Given the description of an element on the screen output the (x, y) to click on. 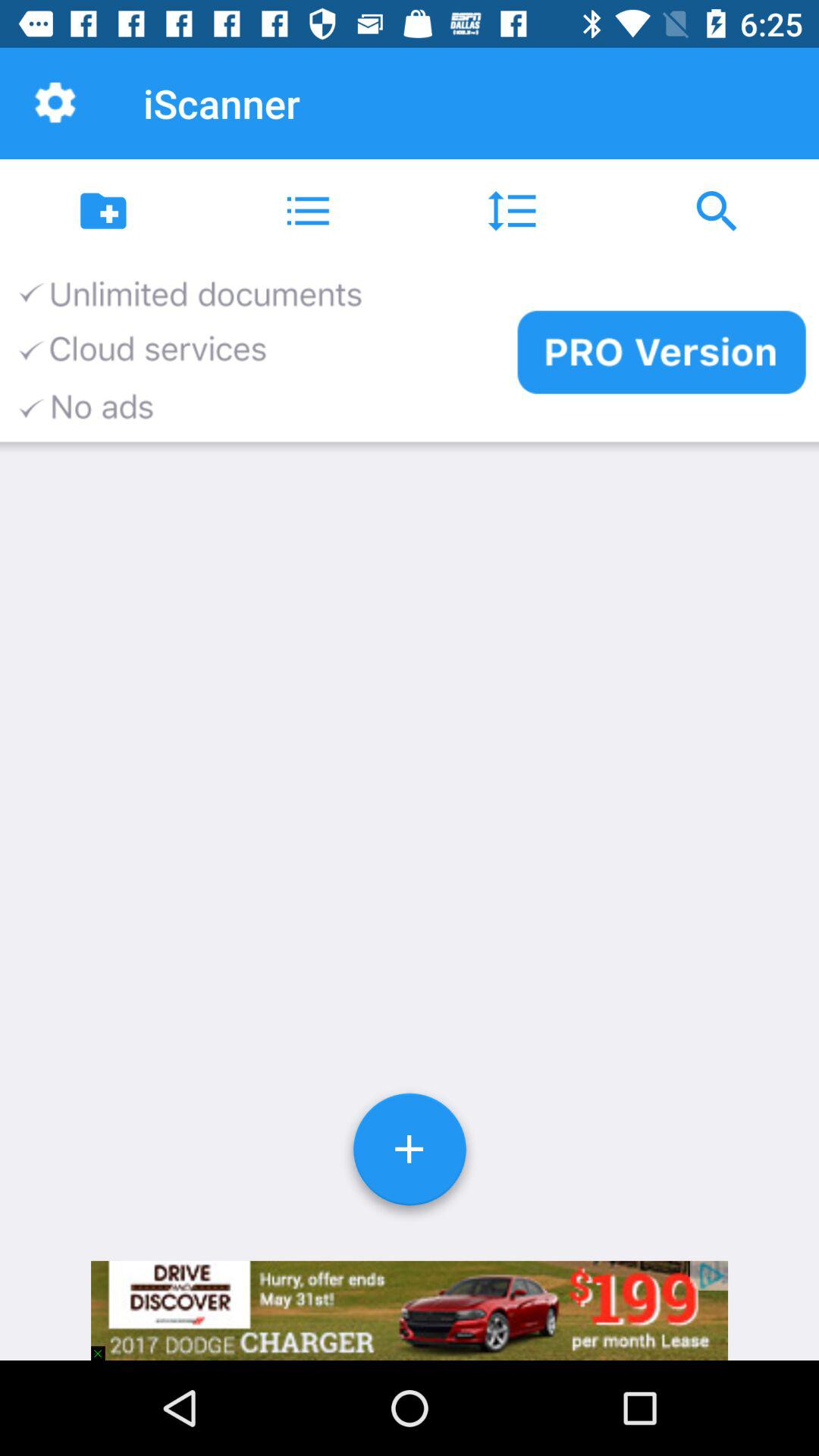
turn on the item to the left of iscanner item (55, 103)
